Given the description of an element on the screen output the (x, y) to click on. 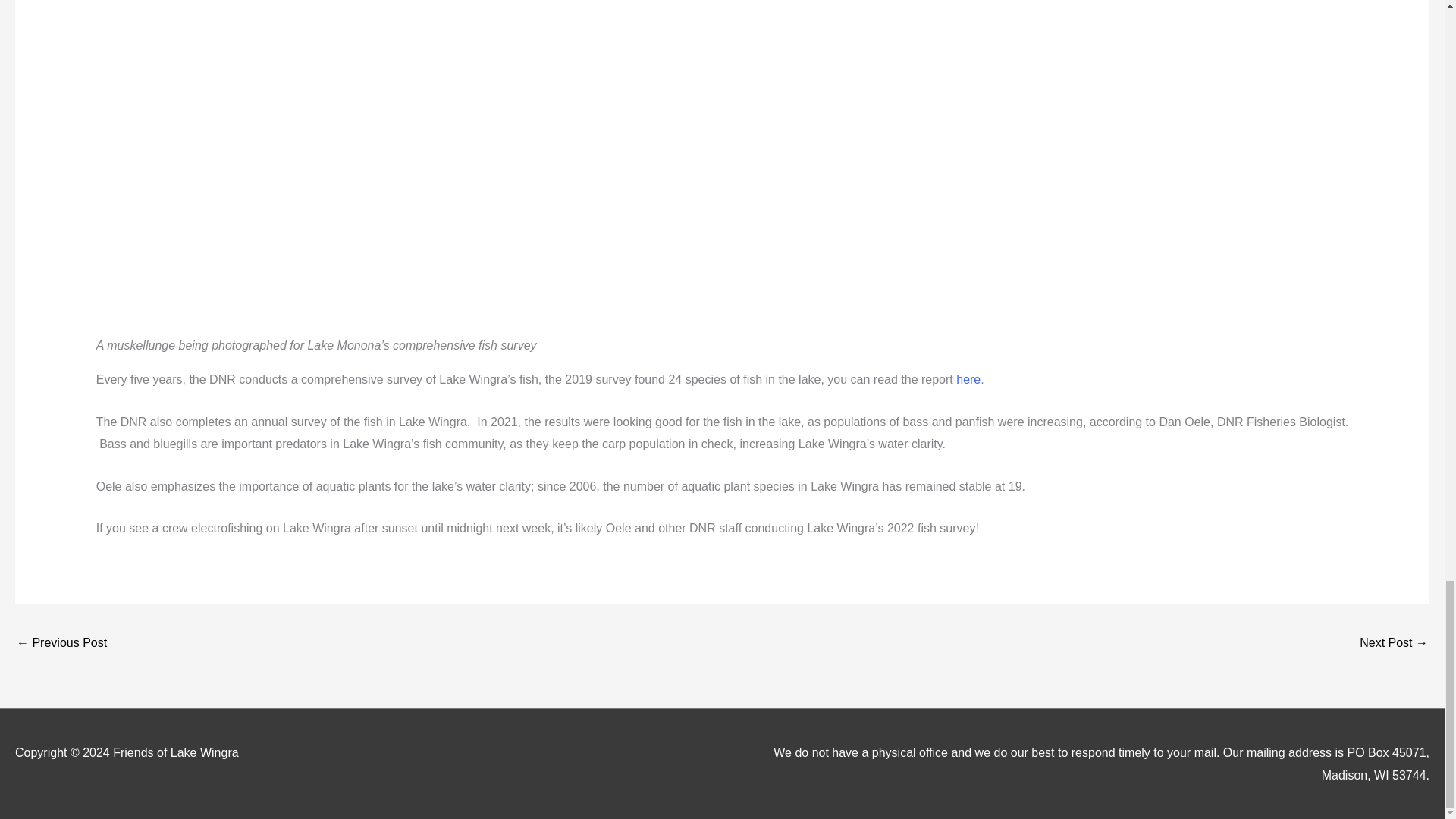
Friends of Lake Wingra WATER Grant (1393, 643)
 here (966, 379)
The Springs of the Lake Wingra Watershed (61, 643)
